Given the description of an element on the screen output the (x, y) to click on. 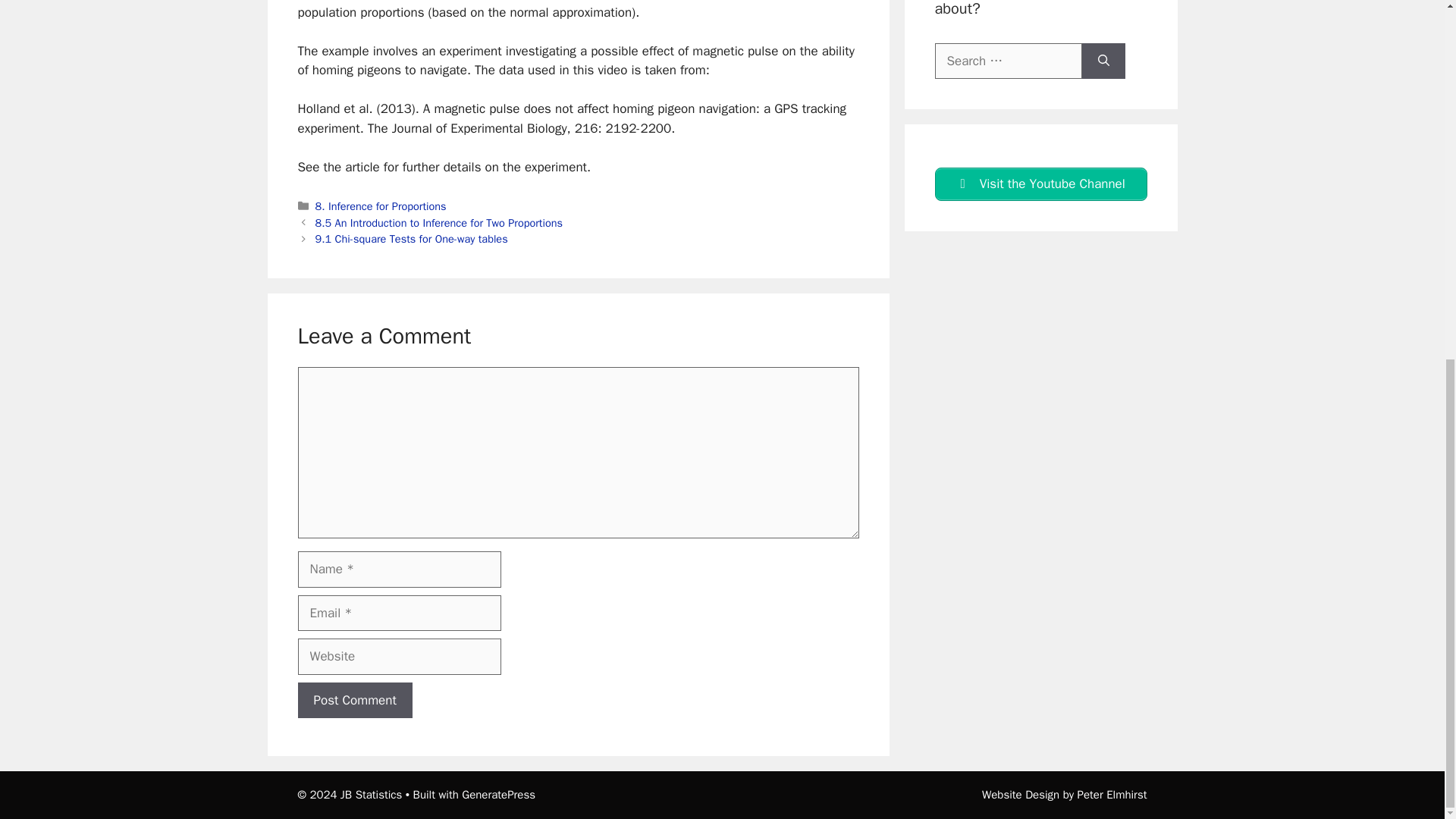
9.1 Chi-square Tests for One-way tables (411, 238)
8. Inference for Proportions (380, 205)
Post Comment (354, 700)
8.5 An Introduction to Inference for Two Proportions (438, 223)
Post Comment (354, 700)
Search for: (1007, 61)
